Given the description of an element on the screen output the (x, y) to click on. 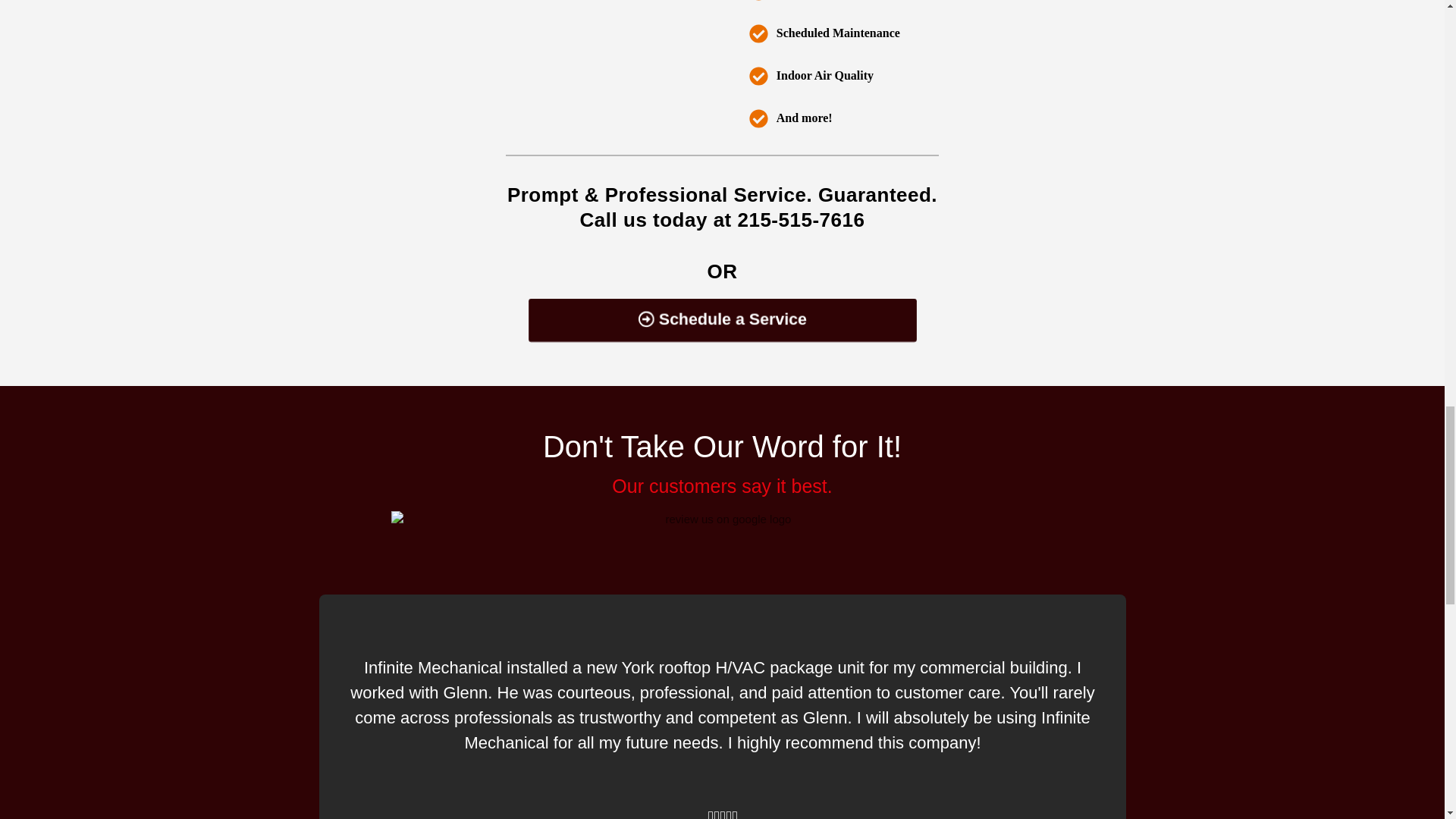
Schedule a Service (708, 318)
215-515-7616 (800, 219)
